Given the description of an element on the screen output the (x, y) to click on. 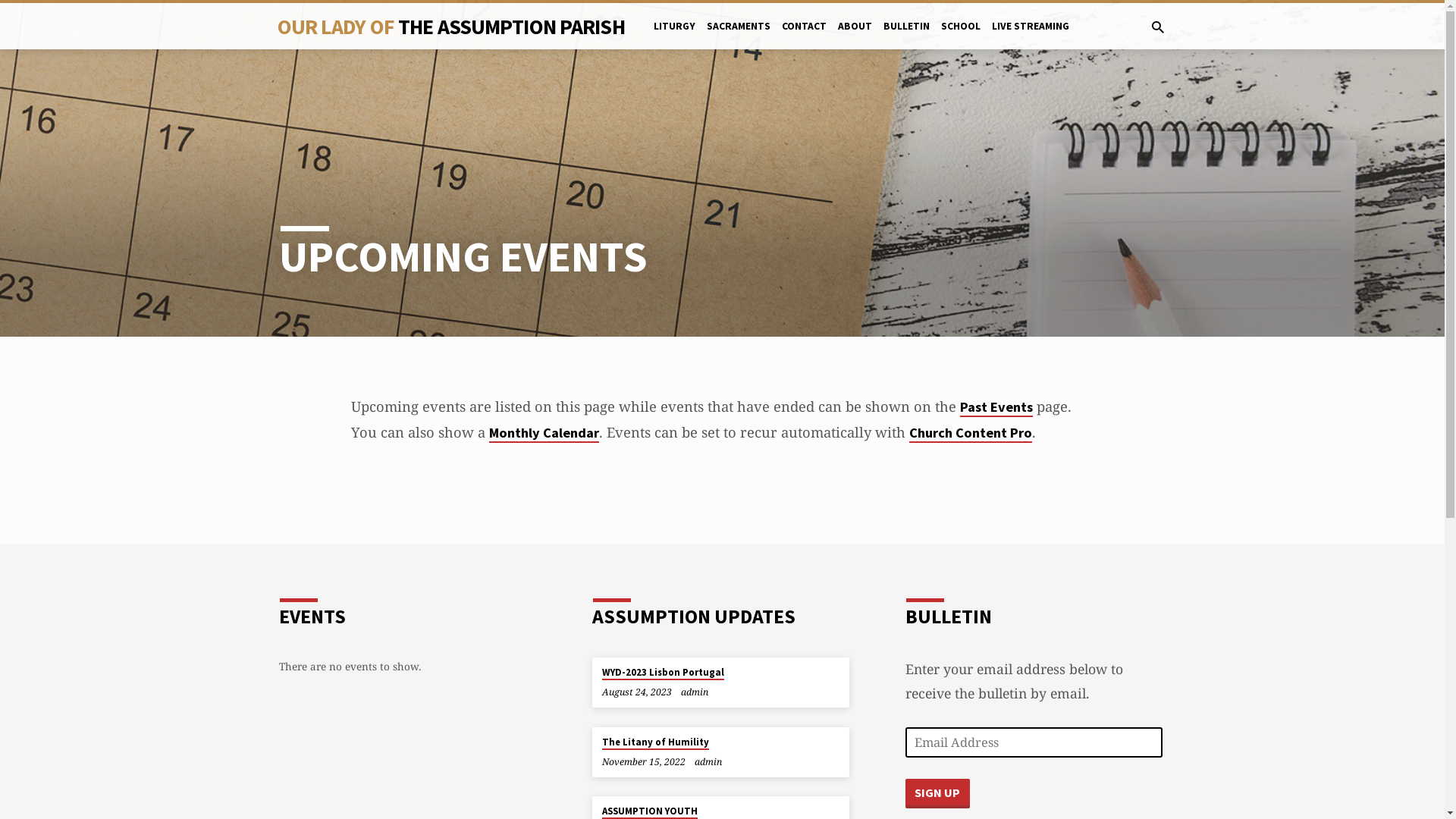
admin Element type: text (707, 761)
WYD-2023 Lisbon Portugal Element type: text (663, 672)
LITURGY Element type: text (674, 35)
Sign up Element type: text (937, 792)
Church Content Pro Element type: text (969, 432)
ABOUT Element type: text (854, 35)
SCHOOL Element type: text (960, 35)
CONTACT Element type: text (803, 35)
OUR LADY OF THE ASSUMPTION PARISH Element type: text (450, 25)
Past Events Element type: text (996, 407)
LIVE STREAMING Element type: text (1030, 35)
admin Element type: text (694, 691)
BULLETIN Element type: text (906, 35)
Monthly Calendar Element type: text (543, 432)
The Litany of Humility Element type: text (655, 742)
SACRAMENTS Element type: text (738, 35)
